Given the description of an element on the screen output the (x, y) to click on. 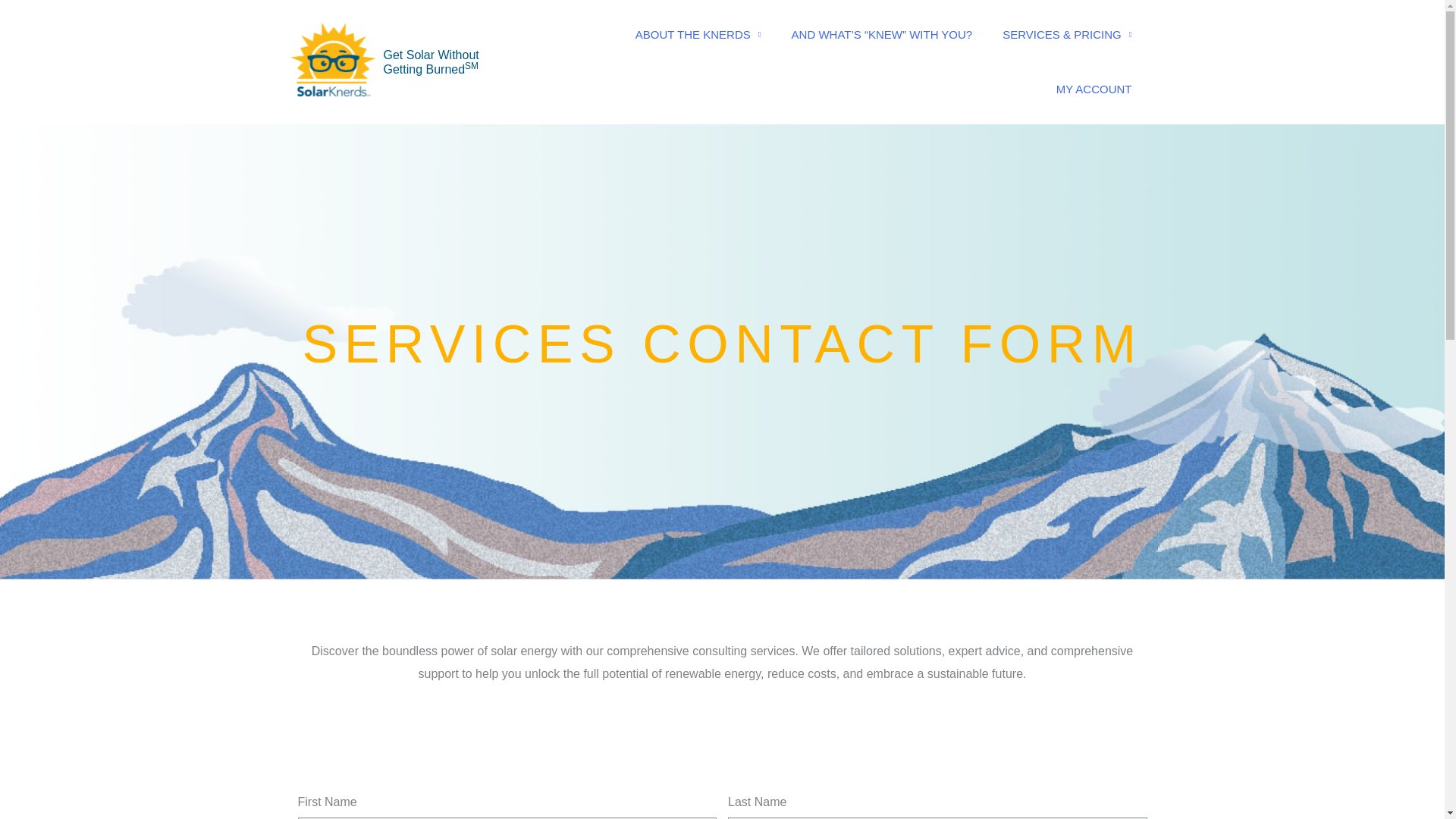
MY ACCOUNT (1094, 89)
ABOUT THE KNERDS (698, 34)
